Given the description of an element on the screen output the (x, y) to click on. 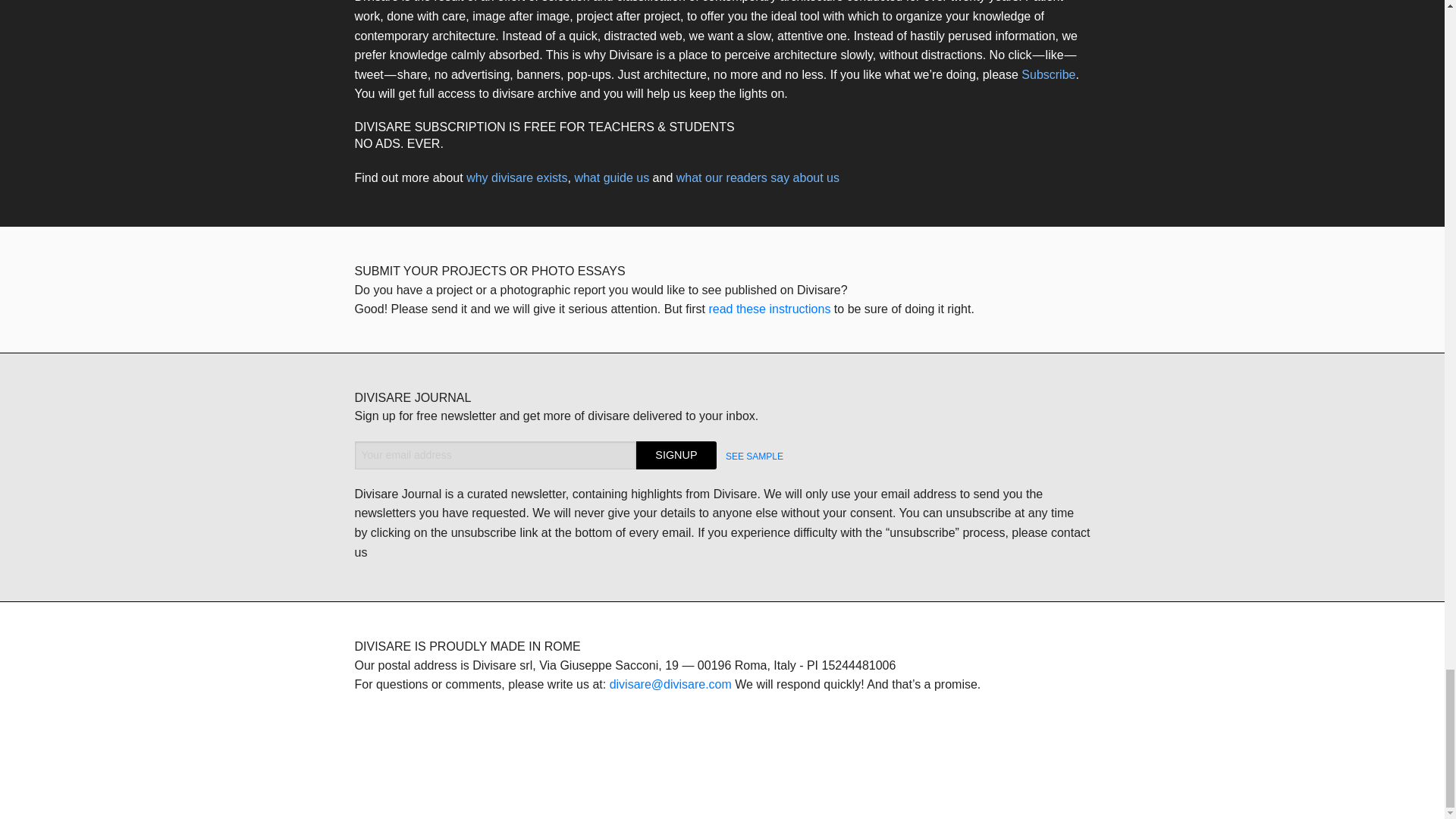
Signup (676, 455)
